Given the description of an element on the screen output the (x, y) to click on. 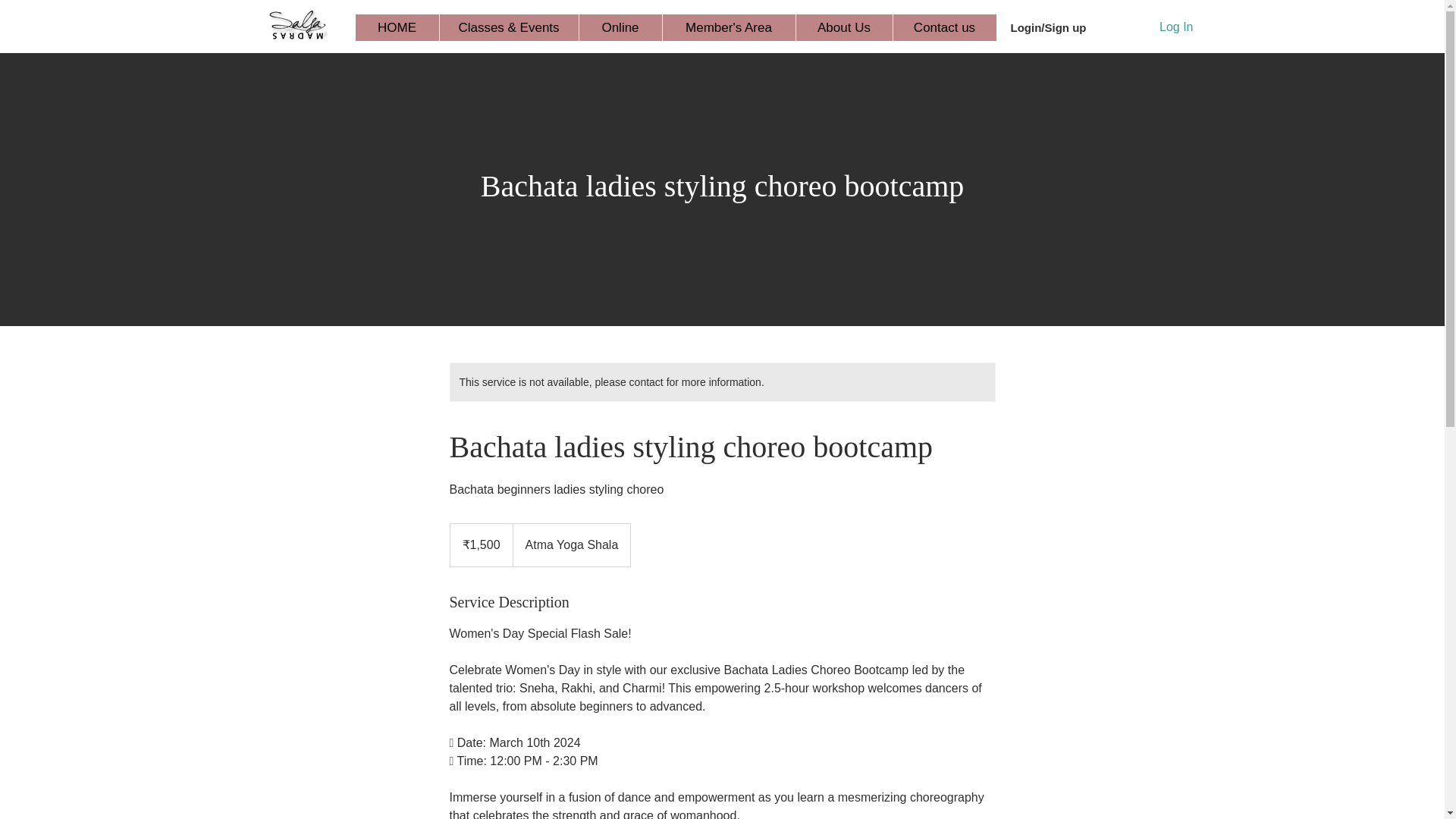
Log In (1161, 27)
sm-42.png (297, 25)
HOME (396, 27)
Contact us (943, 27)
